Given the description of an element on the screen output the (x, y) to click on. 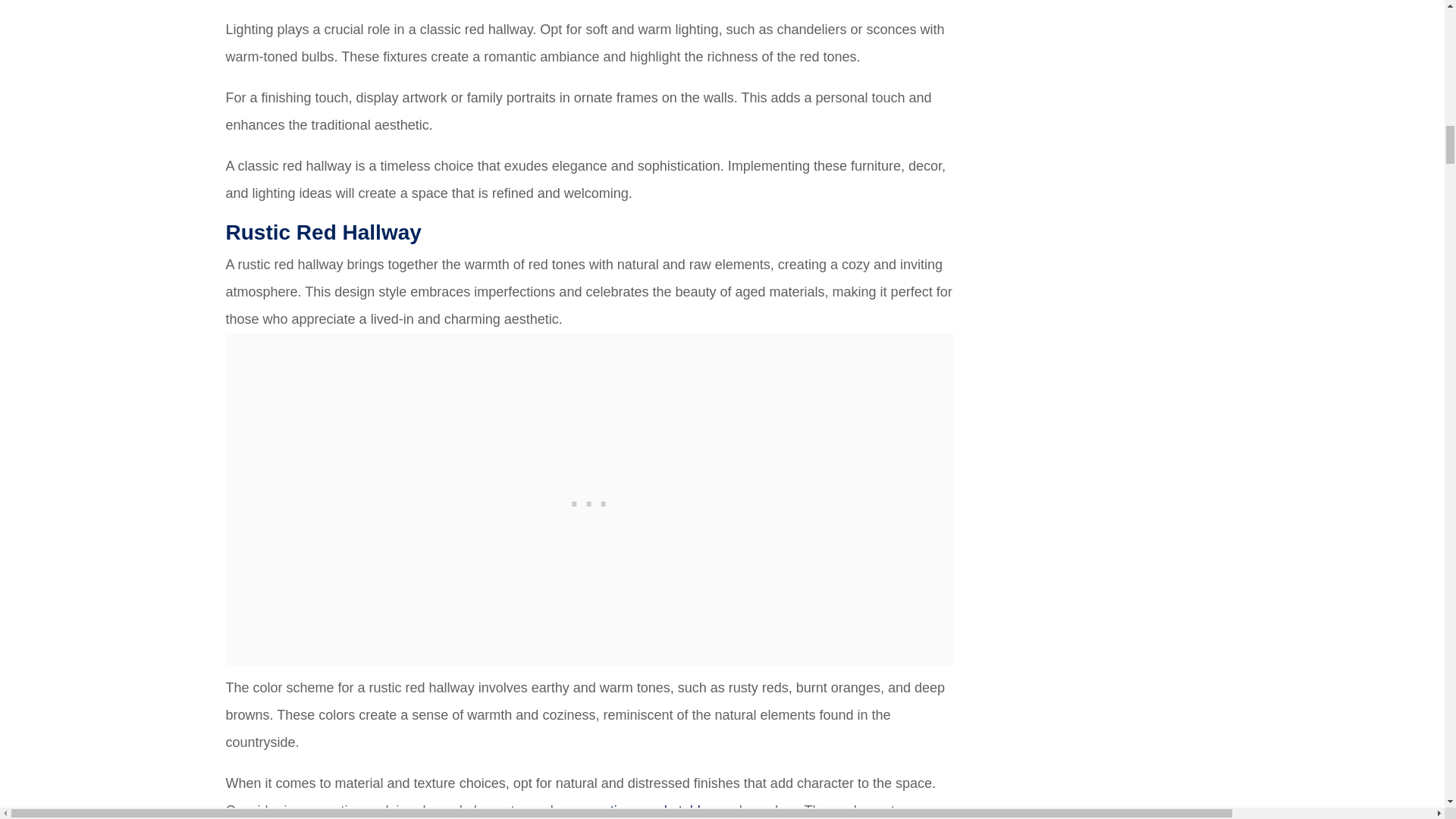
rustic console table (649, 810)
